Given the description of an element on the screen output the (x, y) to click on. 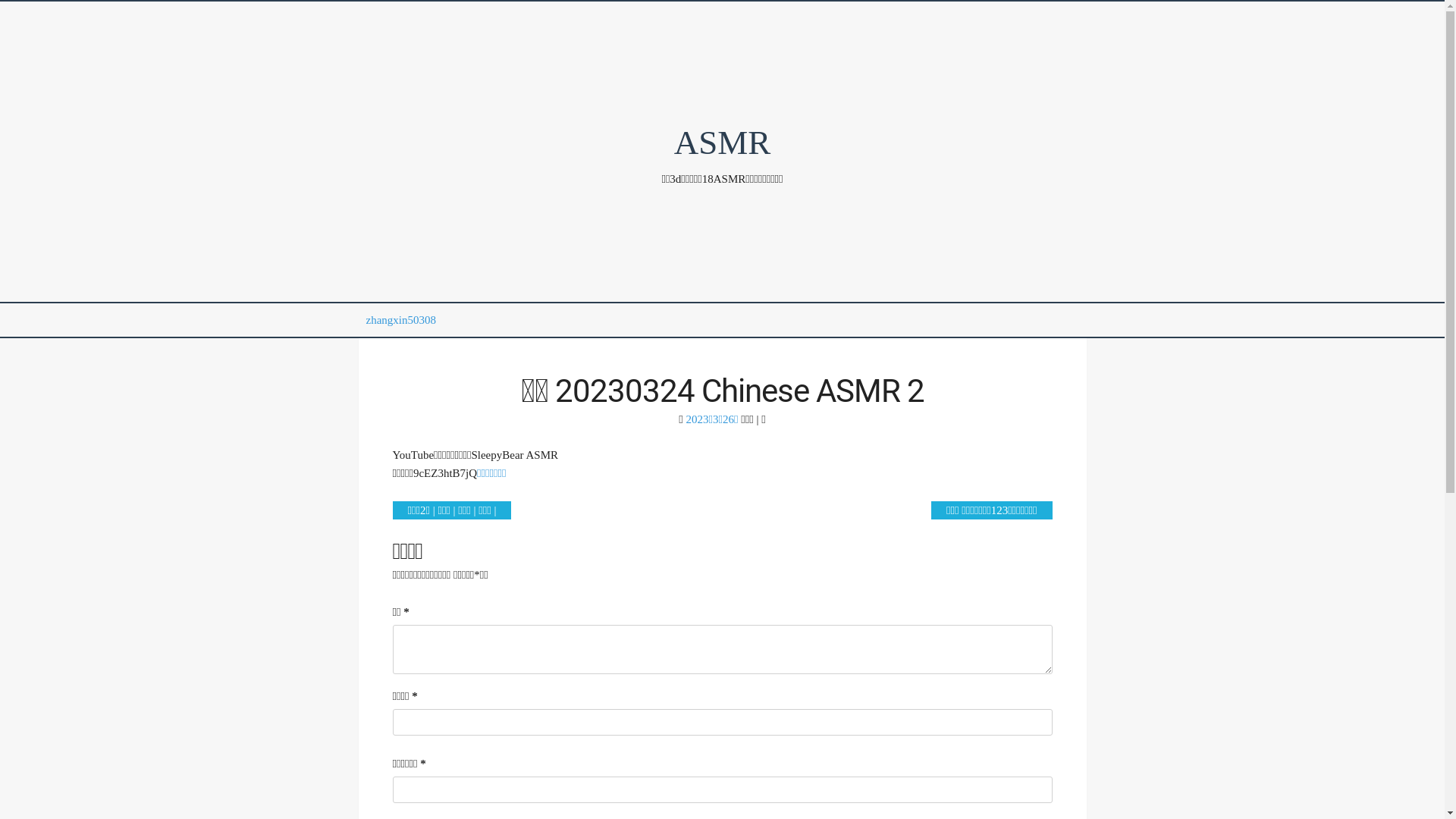
zhangxin50308 Element type: text (400, 319)
ASMR Element type: text (722, 142)
